Given the description of an element on the screen output the (x, y) to click on. 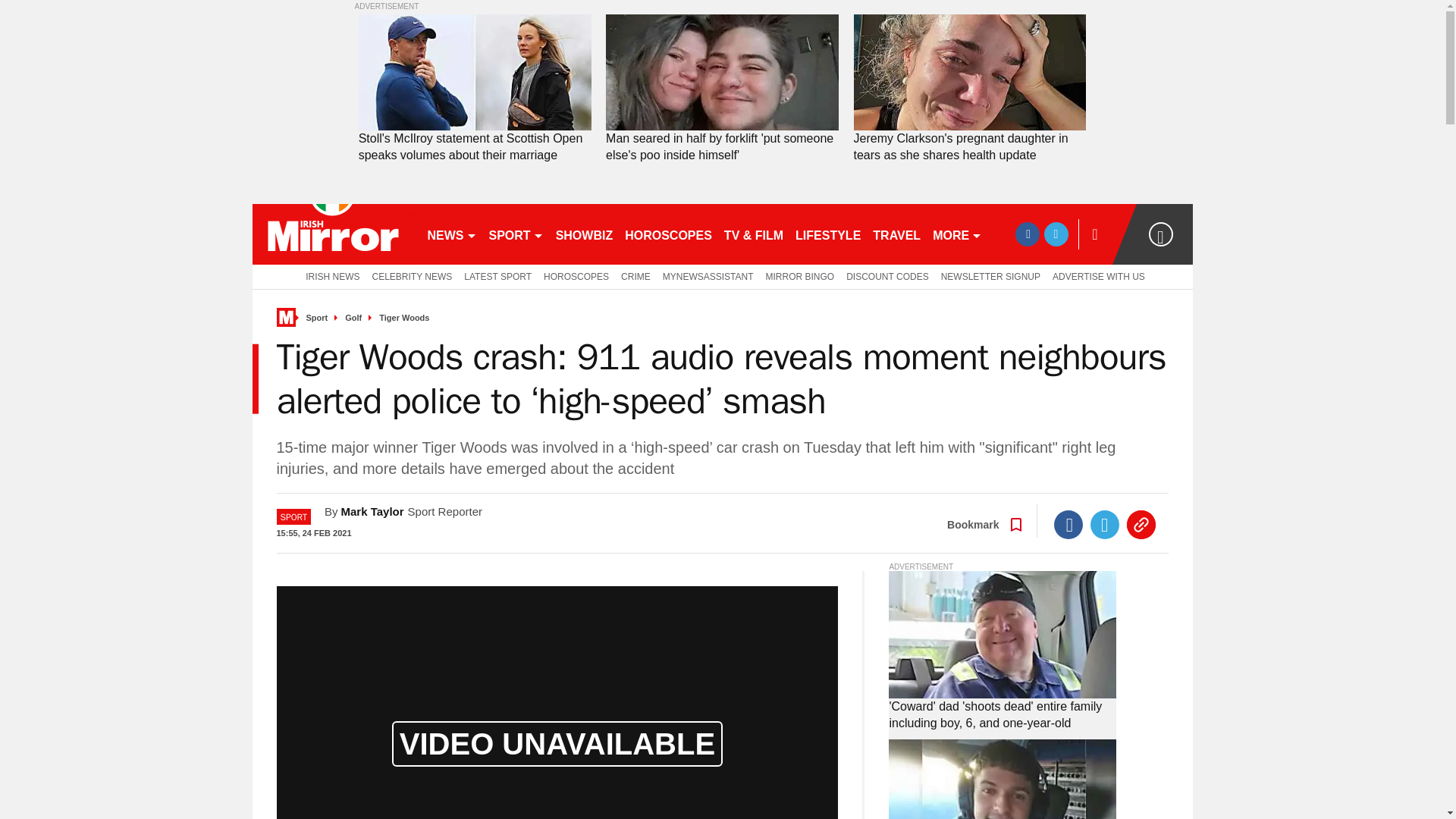
MORE (957, 233)
Facebook (1068, 524)
LIFESTYLE (827, 233)
twitter (1055, 233)
HOROSCOPES (667, 233)
TRAVEL (896, 233)
Twitter (1104, 524)
NEWS (452, 233)
SHOWBIZ (585, 233)
